Given the description of an element on the screen output the (x, y) to click on. 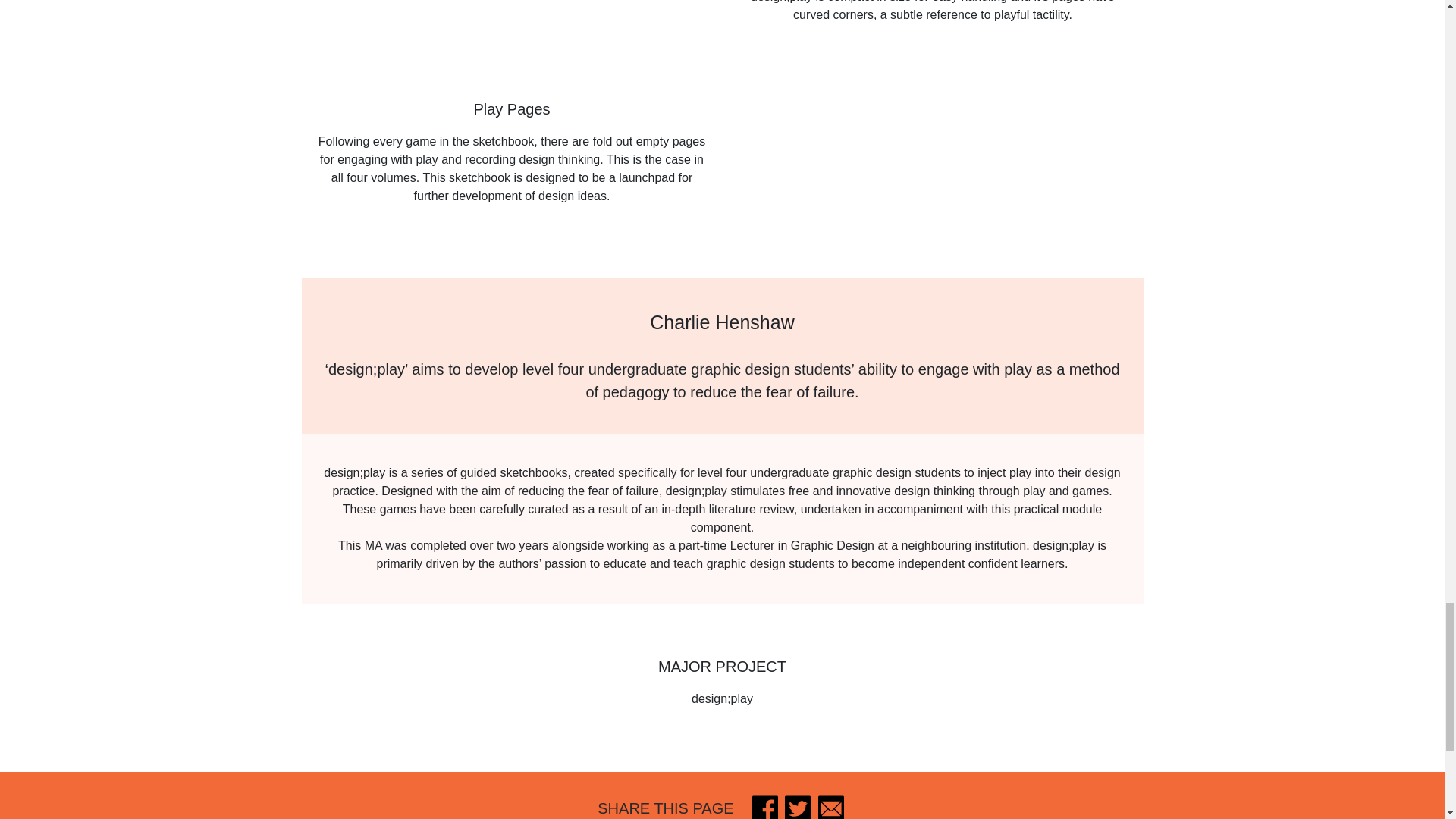
Share on Twitter (797, 807)
Share by Email (831, 807)
Share on Facebook (764, 807)
